Given the description of an element on the screen output the (x, y) to click on. 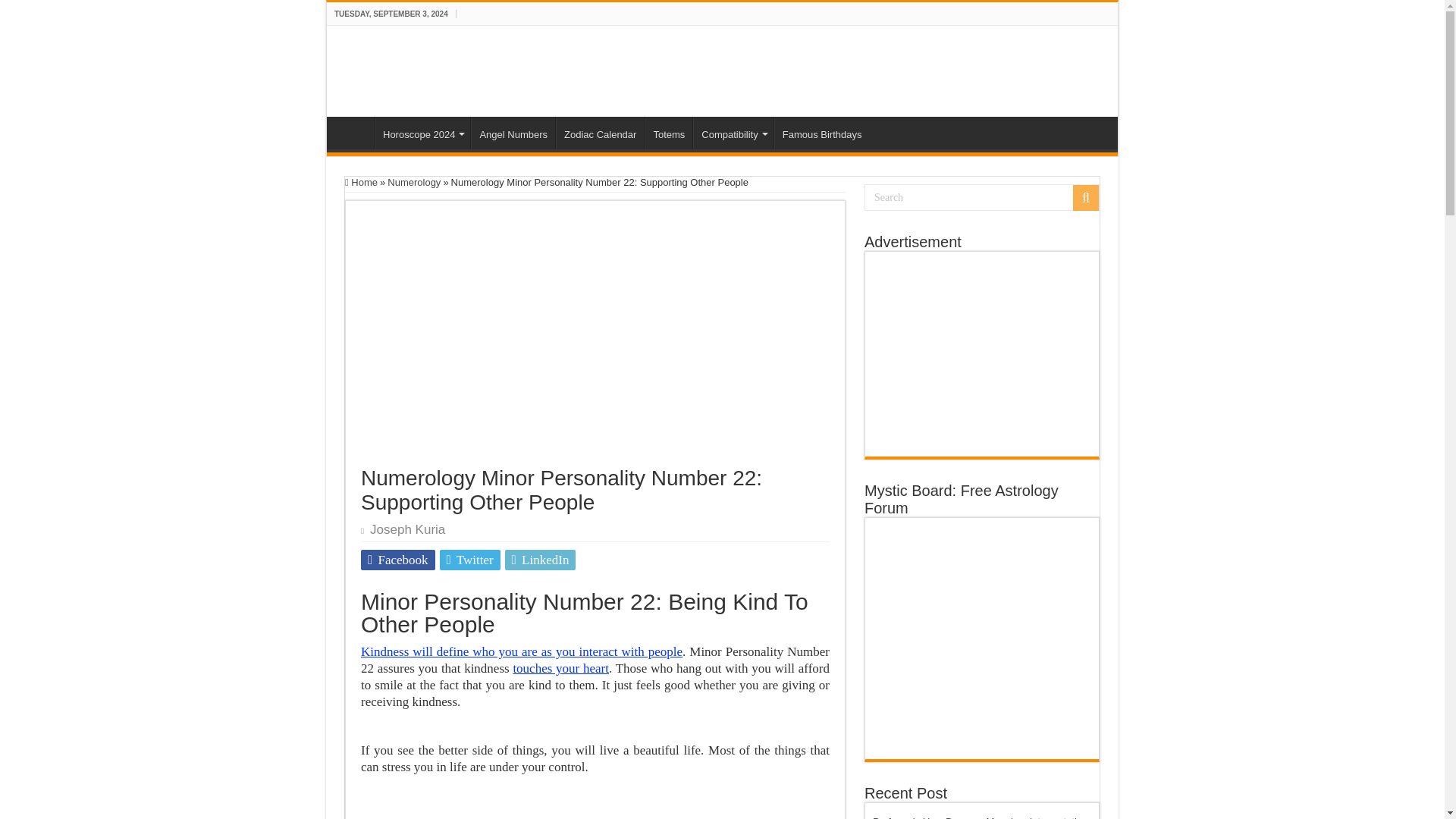
Compatibility (733, 132)
Joseph Kuria (407, 529)
Twitter (469, 559)
Horoscope 2024 (422, 132)
Famous Birthdays (821, 132)
LinkedIn (540, 559)
Facebook (398, 559)
Sun Signs (405, 67)
touches your heart (560, 667)
What Are Animal Totems (669, 132)
